Given the description of an element on the screen output the (x, y) to click on. 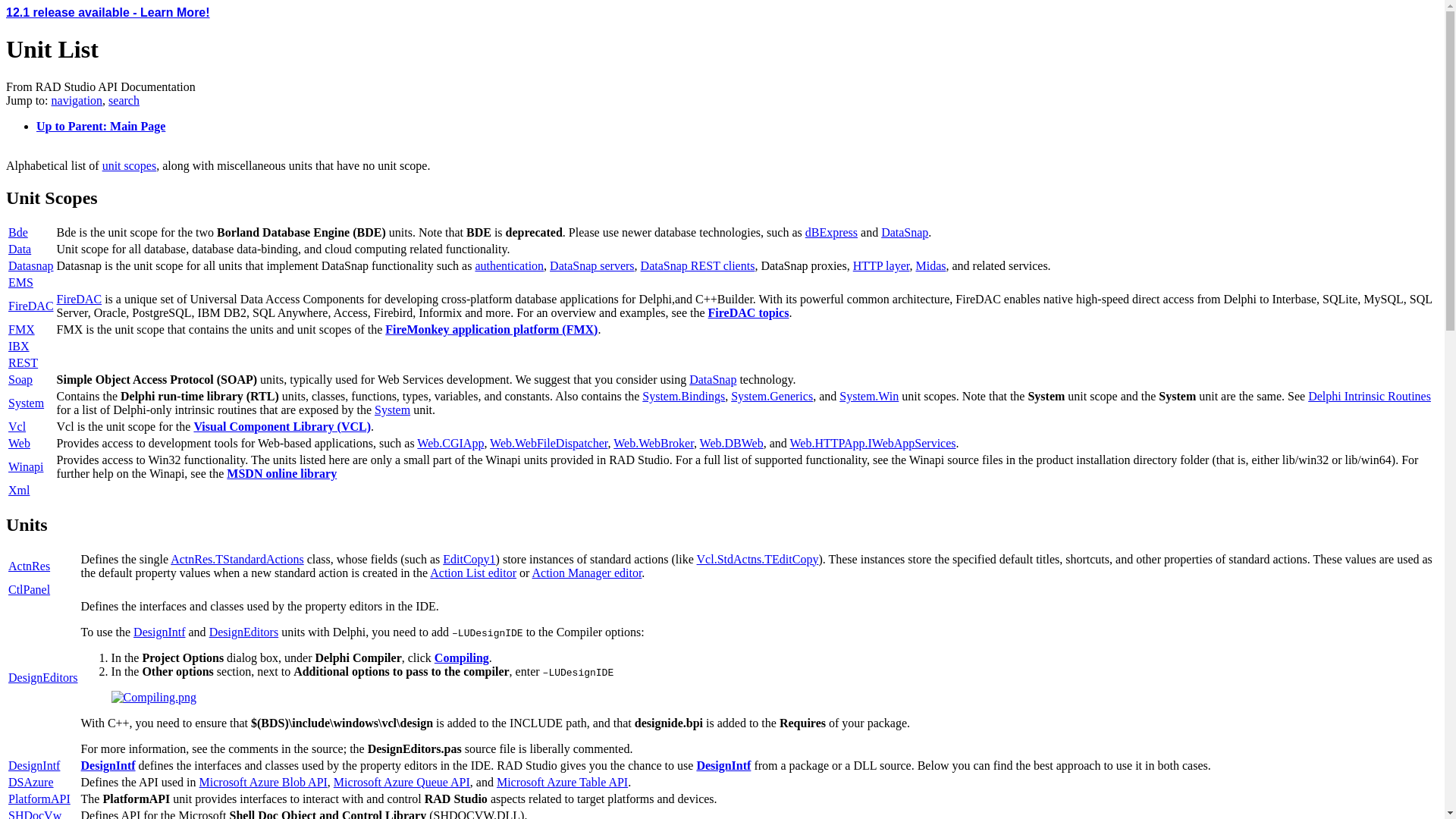
System (392, 409)
FireDAC topics (748, 312)
DataSnap (712, 379)
Bde (17, 232)
FireDAC (30, 305)
DataSnap servers (592, 265)
navigation (76, 100)
FMX (21, 328)
EMS (20, 282)
Vcl (17, 426)
REST (22, 362)
rad en:DataSnap Overview and Architecture (904, 232)
Datasnap (30, 265)
FireDAC (78, 298)
rad en:FireDAC (748, 312)
